Given the description of an element on the screen output the (x, y) to click on. 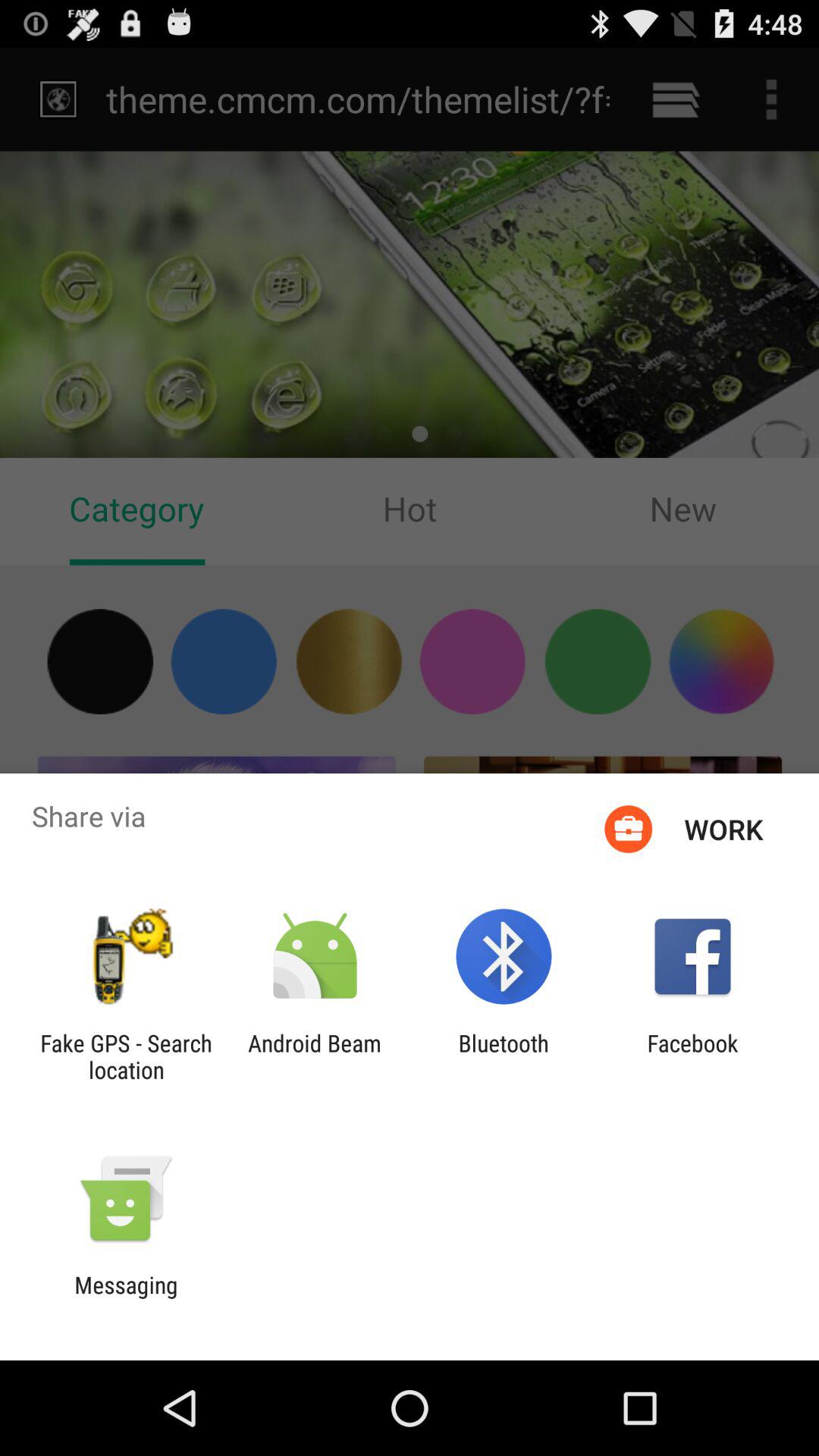
select the facebook item (692, 1056)
